Given the description of an element on the screen output the (x, y) to click on. 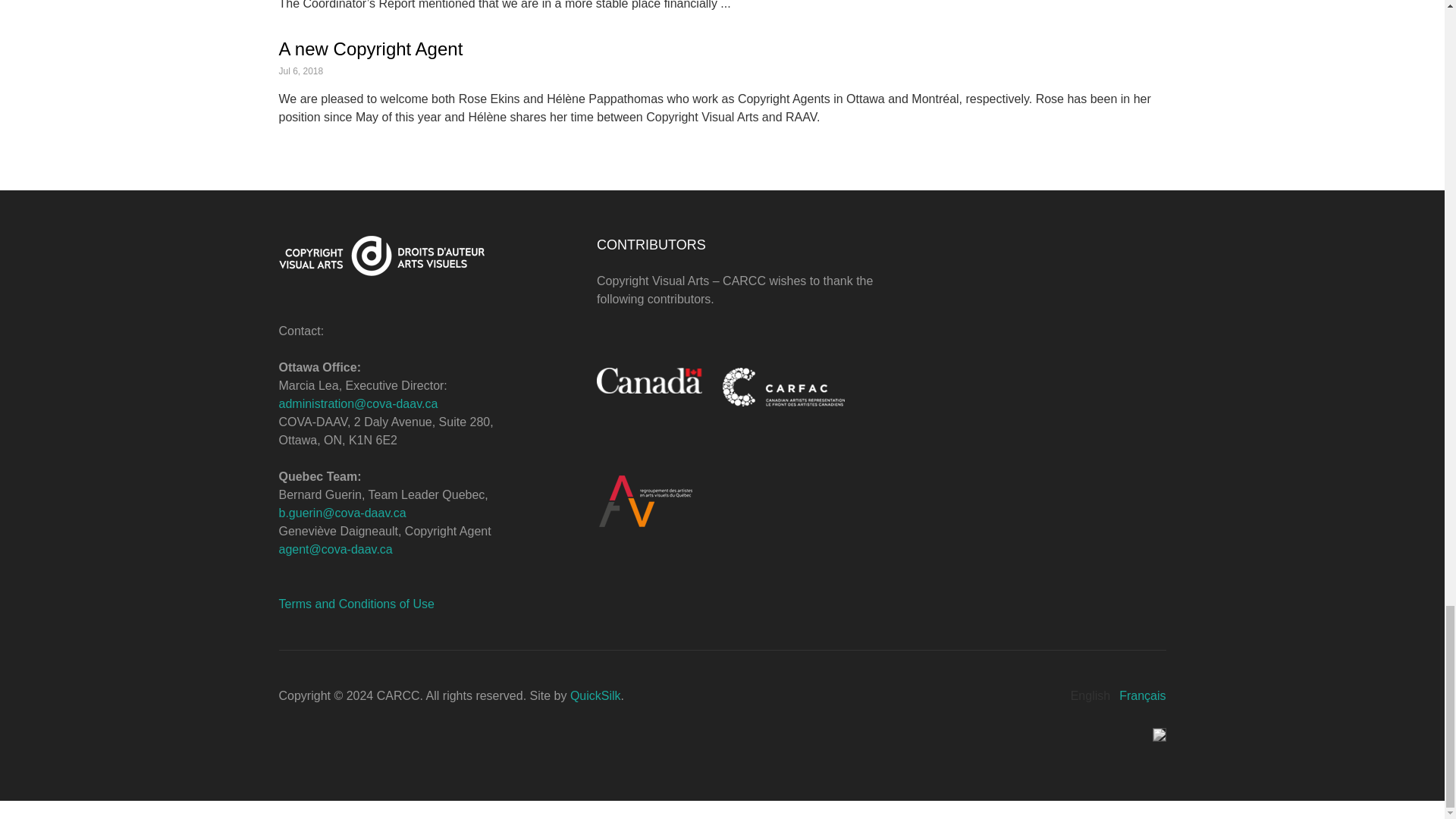
AV (750, 501)
CARFAC (812, 386)
A new Copyright Agent (371, 48)
Facebook (1159, 735)
Copyright Visual Arts (413, 255)
QuickSilk (595, 695)
Canada (648, 380)
